Given the description of an element on the screen output the (x, y) to click on. 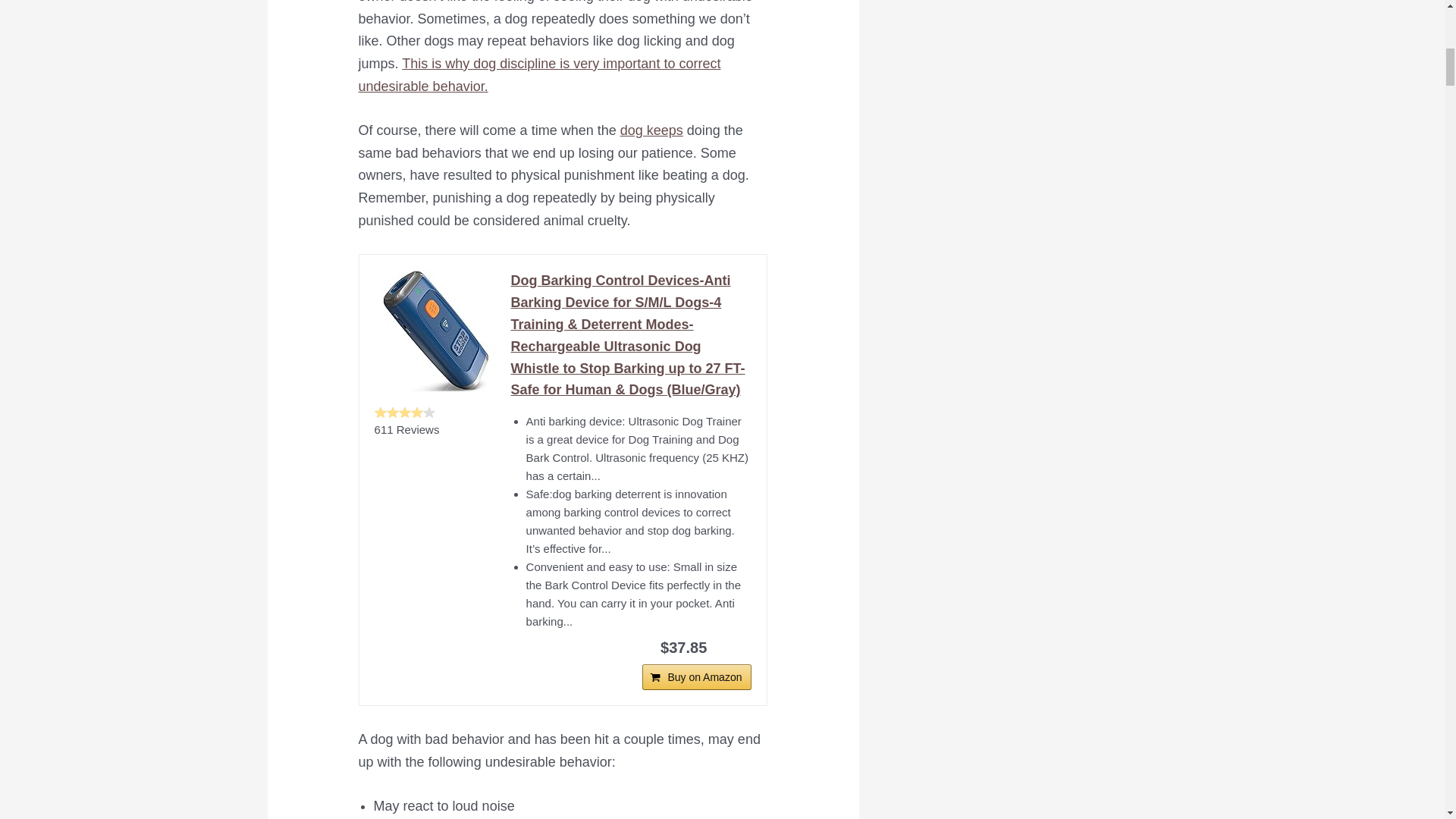
Amazon Prime (730, 645)
Buy on Amazon (696, 677)
dog keeps (651, 130)
Reviews on Amazon (404, 412)
Buy on Amazon (696, 677)
